Given the description of an element on the screen output the (x, y) to click on. 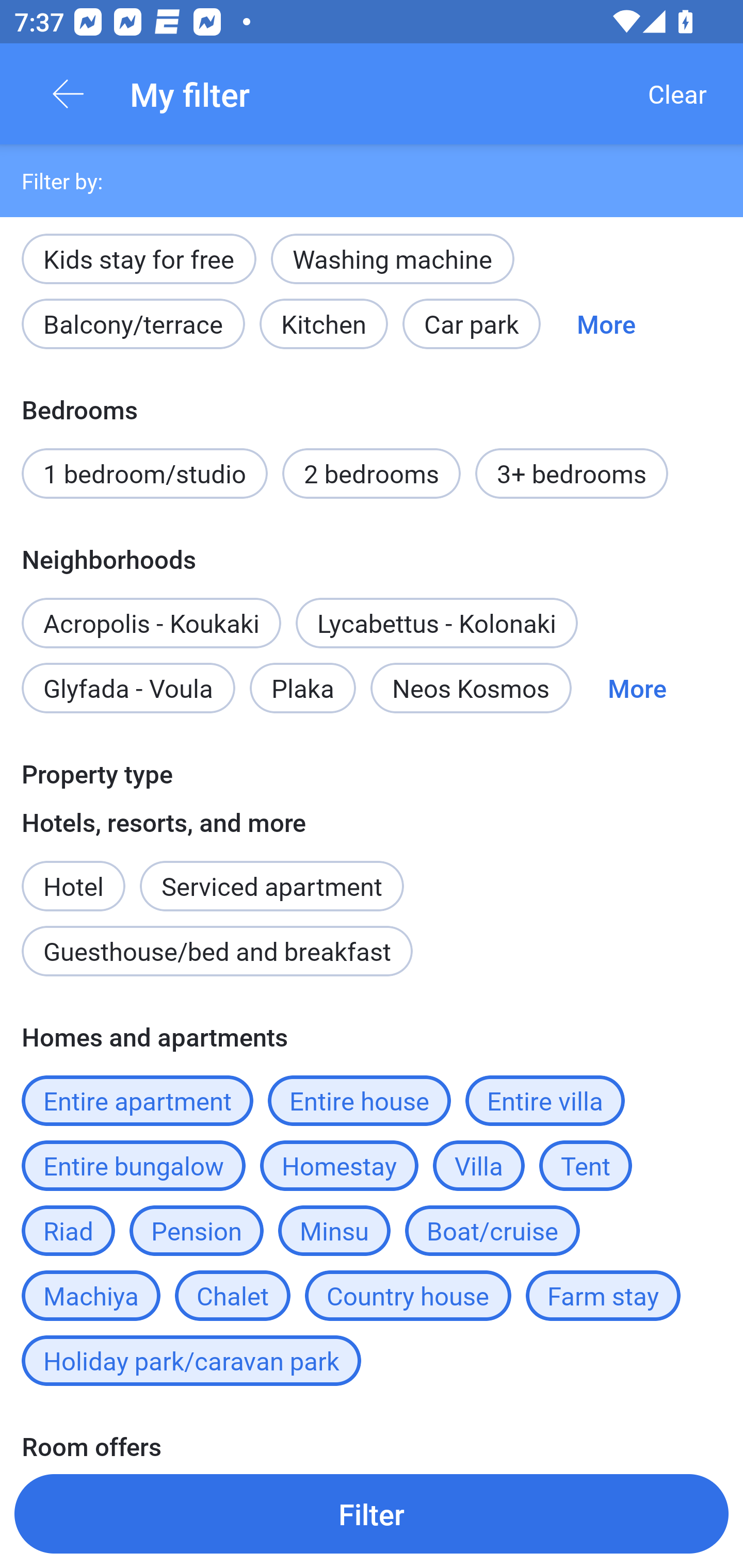
Clear (676, 93)
Kids stay for free (138, 259)
Washing machine (392, 259)
Balcony/terrace (133, 323)
Kitchen (323, 323)
Car park (471, 323)
More (606, 323)
1 bedroom/studio (144, 473)
2 bedrooms (371, 473)
3+ bedrooms (571, 473)
Acropolis - Koukaki (150, 623)
Lycabettus - Kolonaki (436, 623)
Glyfada - Voula (128, 687)
Plaka (302, 687)
Neos Kosmos (470, 687)
More (637, 687)
Hotel (73, 875)
Serviced apartment (271, 875)
Guesthouse/bed and breakfast (217, 950)
Filter (371, 1513)
